Given the description of an element on the screen output the (x, y) to click on. 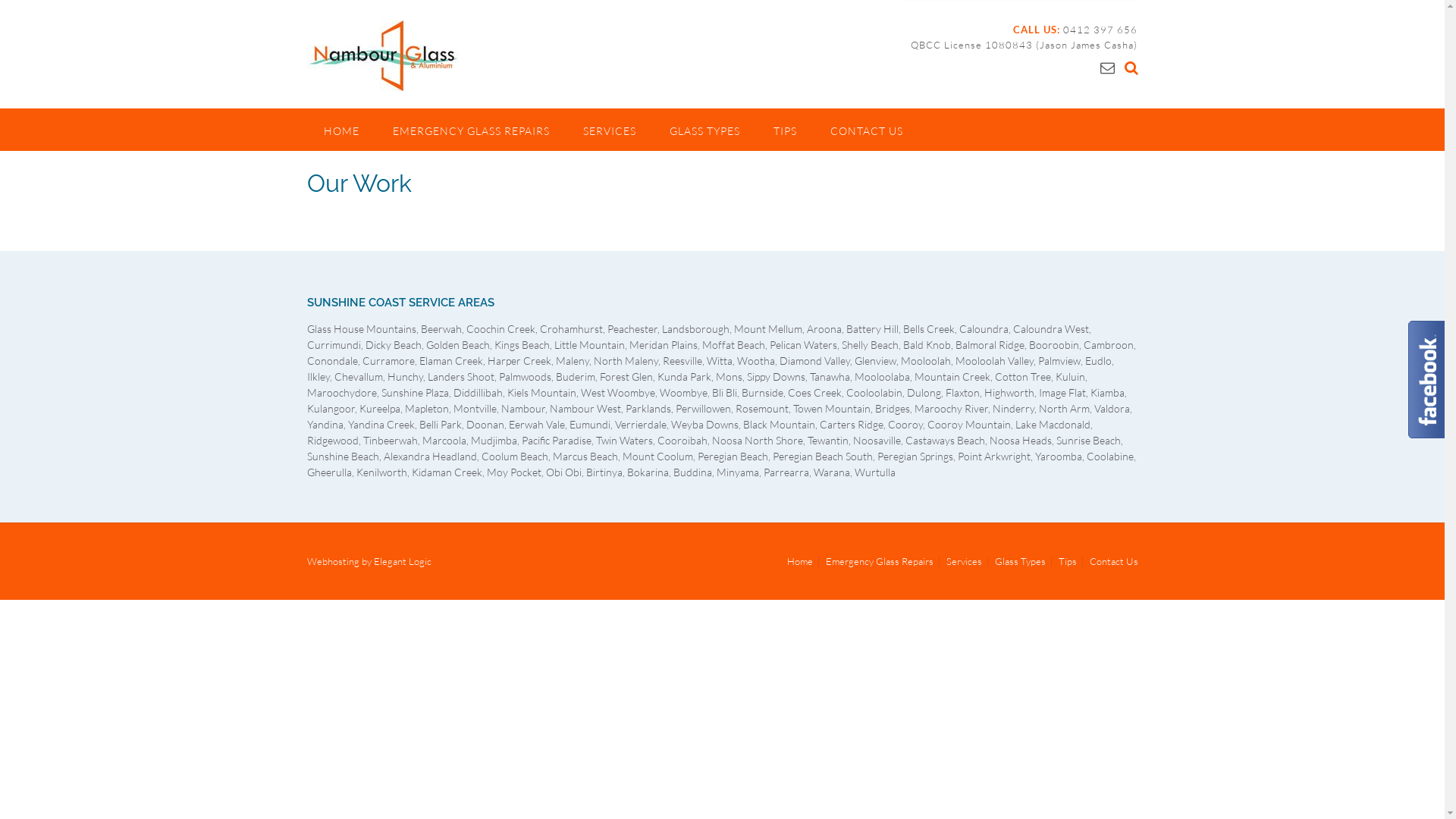
Contact Us Element type: text (1111, 561)
EMERGENCY GLASS REPAIRS Element type: text (471, 129)
GLASS TYPES Element type: text (704, 129)
Services Element type: text (963, 561)
Home Element type: text (799, 561)
Elegant Logic Element type: text (401, 561)
Emergency Glass Repairs Element type: text (879, 561)
Glass Types Element type: text (1019, 561)
Tips Element type: text (1066, 561)
SERVICES Element type: text (608, 129)
TIPS Element type: text (784, 129)
CONTACT US Element type: text (865, 129)
HOME Element type: text (340, 129)
Send us an email Element type: hover (1106, 67)
